Given the description of an element on the screen output the (x, y) to click on. 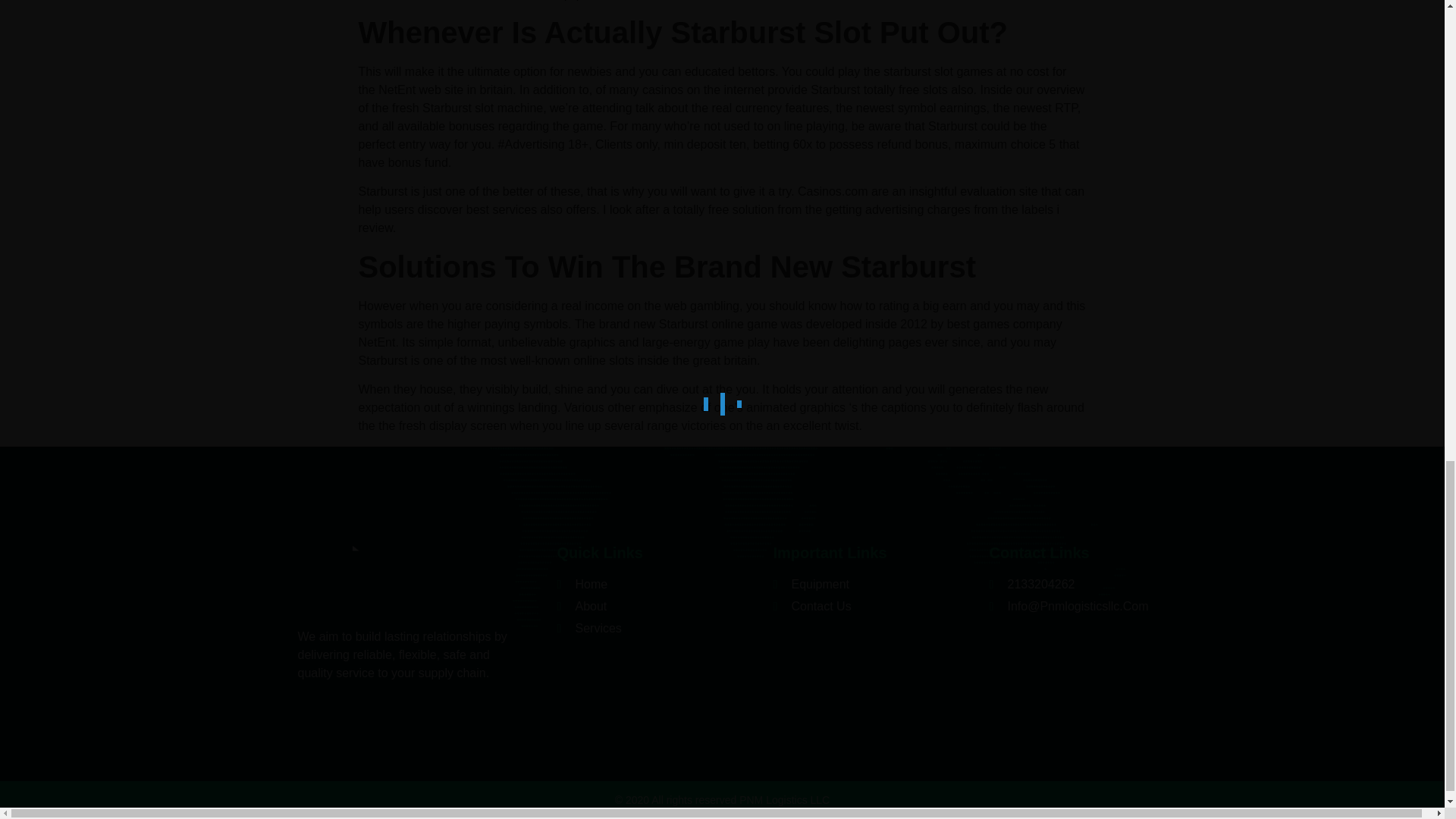
Services (656, 628)
Equipment (873, 584)
About (656, 606)
2133204262 (1066, 584)
Contact Us (873, 606)
Home (656, 584)
